Given the description of an element on the screen output the (x, y) to click on. 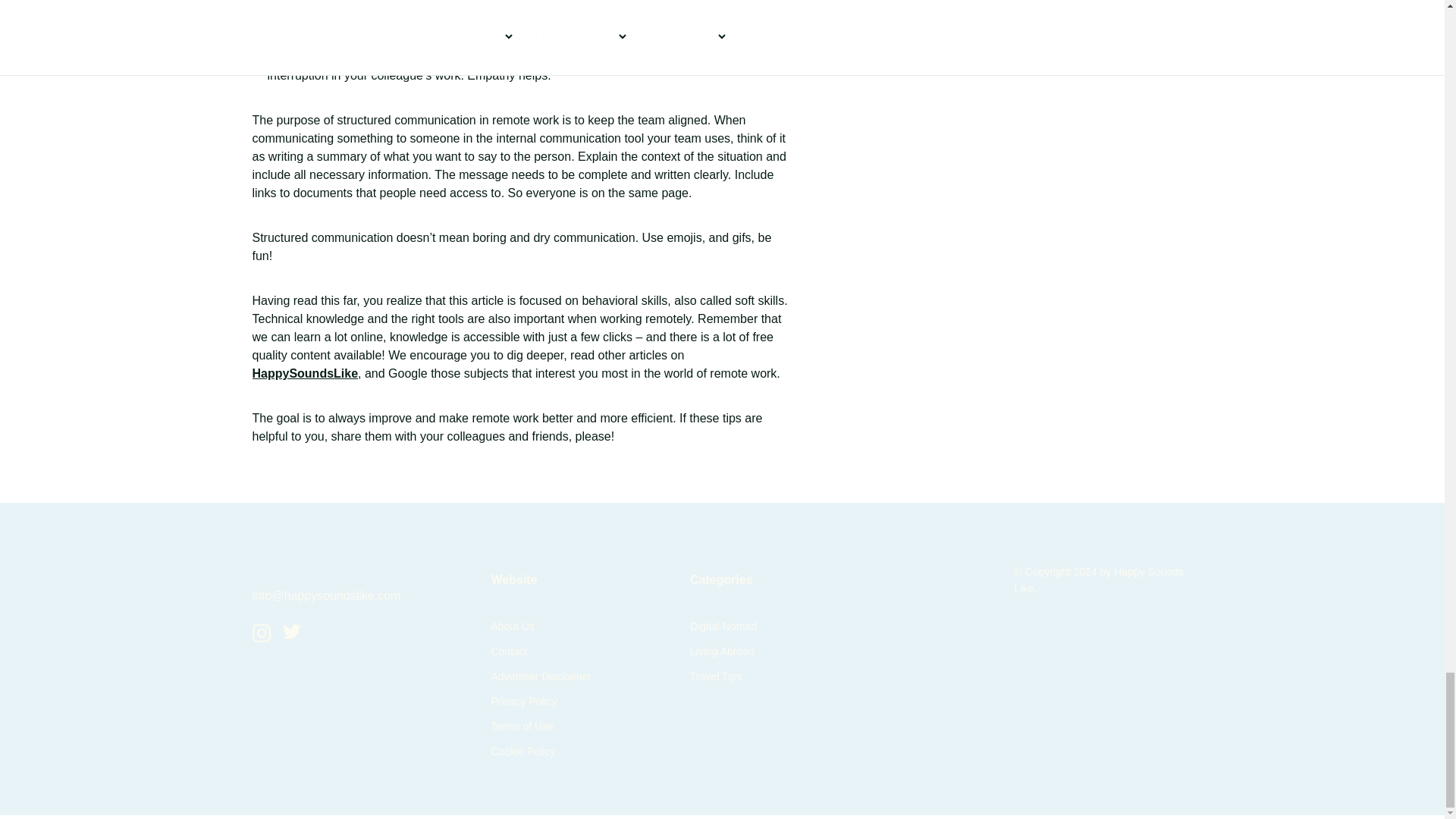
Follow on Instagram (260, 637)
Follow on Twitter (290, 634)
HappySoundsLike (304, 373)
